Given the description of an element on the screen output the (x, y) to click on. 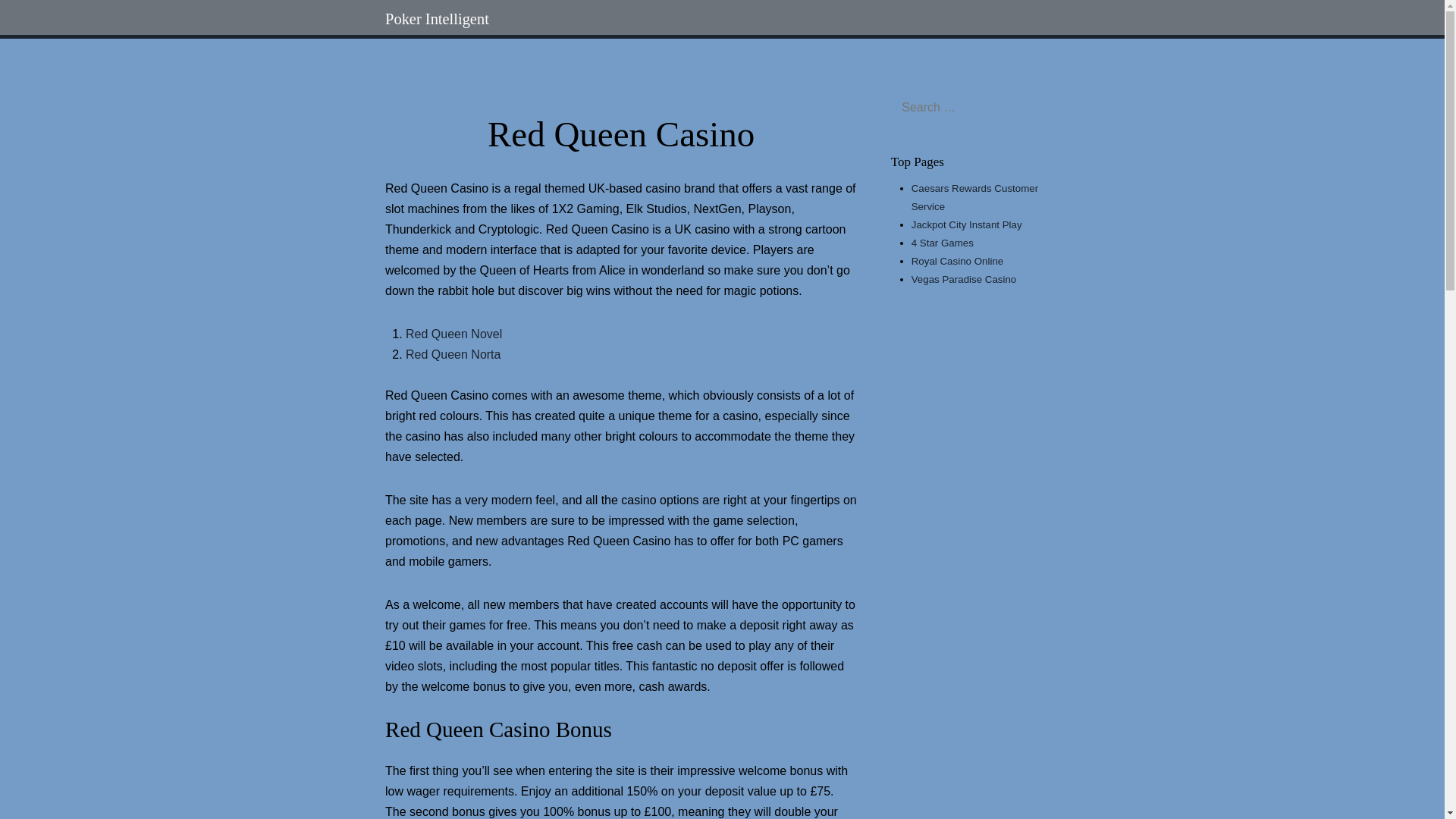
4 Star Games (942, 242)
Red Queen Novel (454, 333)
Jackpot City Instant Play (966, 224)
Red Queen Norta (453, 354)
Vegas Paradise Casino (963, 279)
Caesars Rewards Customer Service (974, 197)
Royal Casino Online (957, 260)
Poker Intelligent (437, 18)
